Given the description of an element on the screen output the (x, y) to click on. 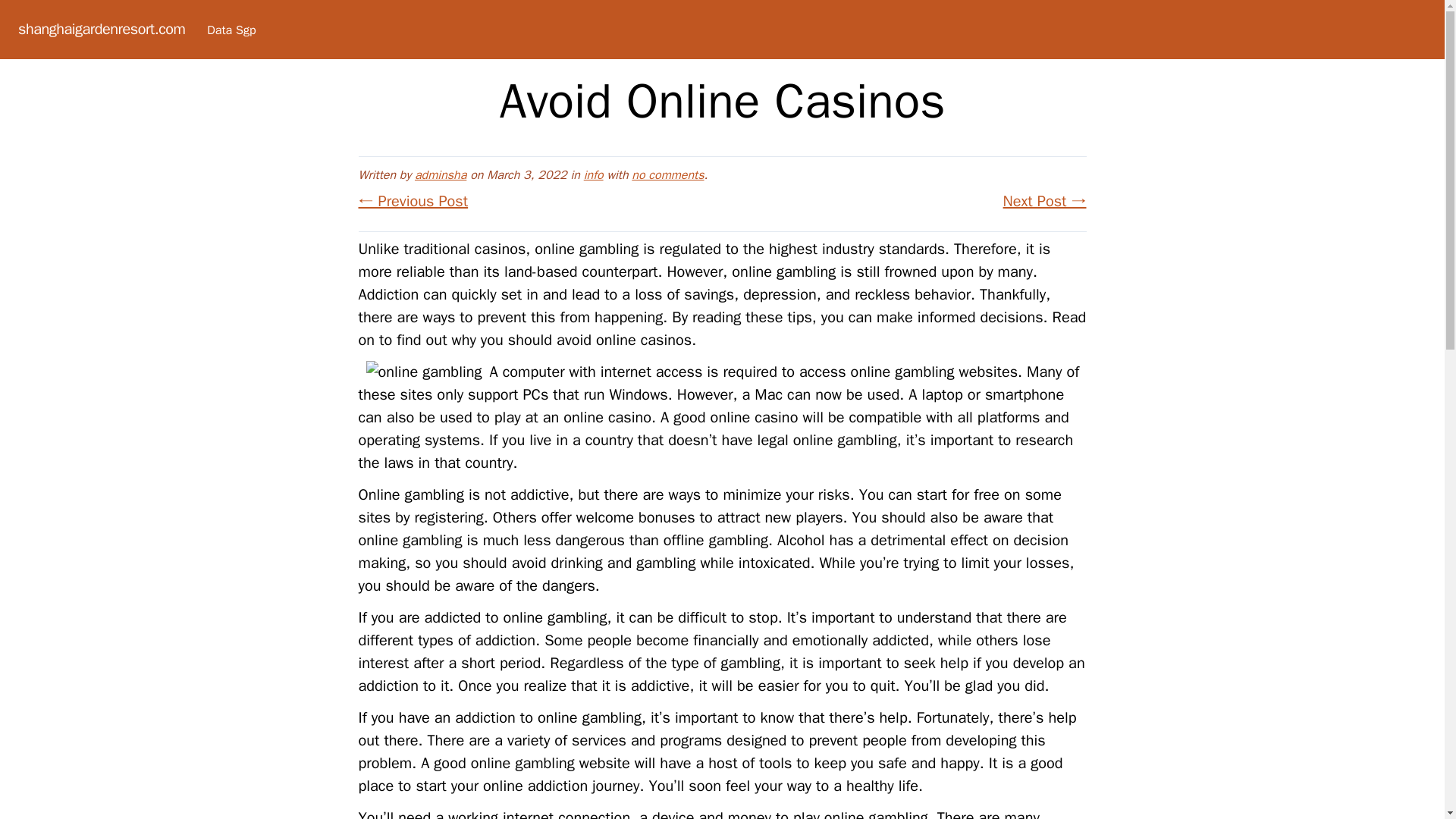
adminsha (439, 174)
info (593, 174)
no comments (667, 174)
Data Sgp (231, 30)
shanghaigardenresort.com (100, 29)
no comments (667, 174)
